Given the description of an element on the screen output the (x, y) to click on. 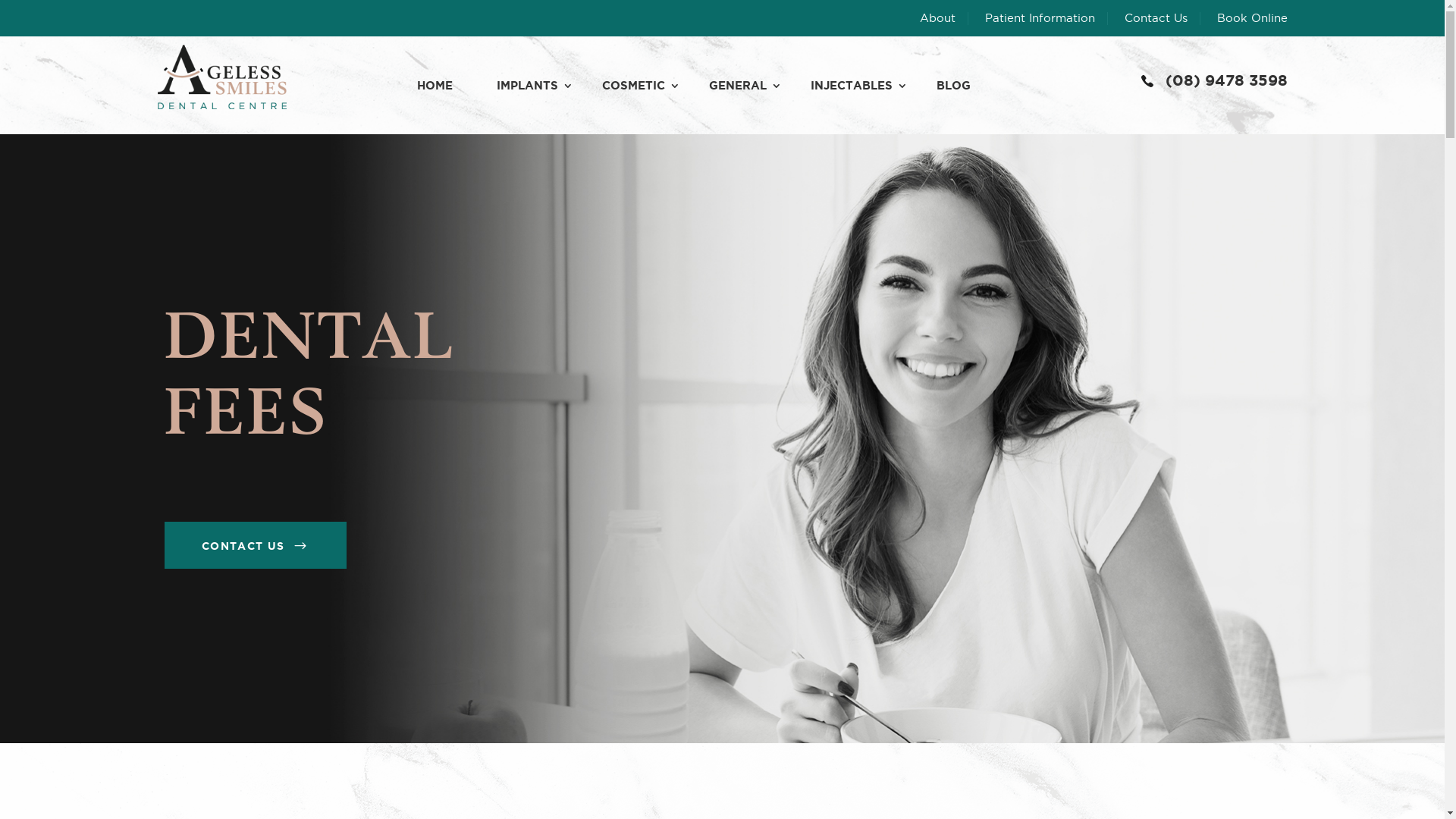
Contact Us Element type: text (1161, 19)
COSMETIC Element type: text (633, 85)
Book Online Element type: text (1251, 19)
(08) 9478 3598 Element type: text (1145, 79)
Patient Information Element type: text (1045, 19)
About Element type: text (943, 19)
ageless-smile_logo (1) Element type: hover (221, 76)
INJECTABLES Element type: text (851, 85)
HOME Element type: text (434, 85)
GENERAL Element type: text (737, 85)
BLOG Element type: text (953, 85)
CONTACT US Element type: text (254, 544)
IMPLANTS Element type: text (527, 85)
